Given the description of an element on the screen output the (x, y) to click on. 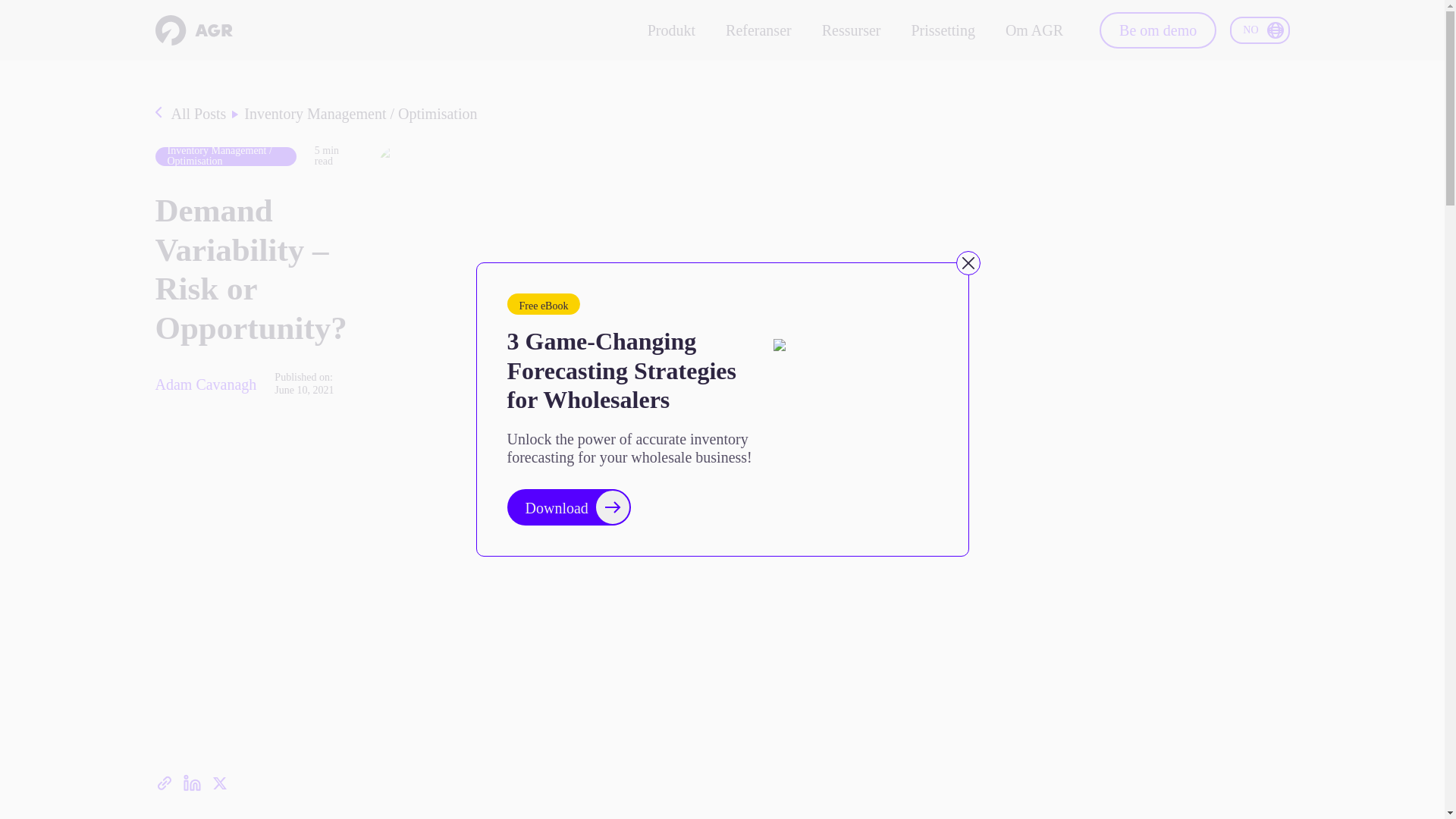
Be om demo (1157, 30)
Produkt (671, 30)
Om AGR (1034, 30)
All Posts (199, 113)
Prissetting (942, 30)
Ressurser (851, 30)
Referanser (758, 30)
NO (1259, 30)
